Given the description of an element on the screen output the (x, y) to click on. 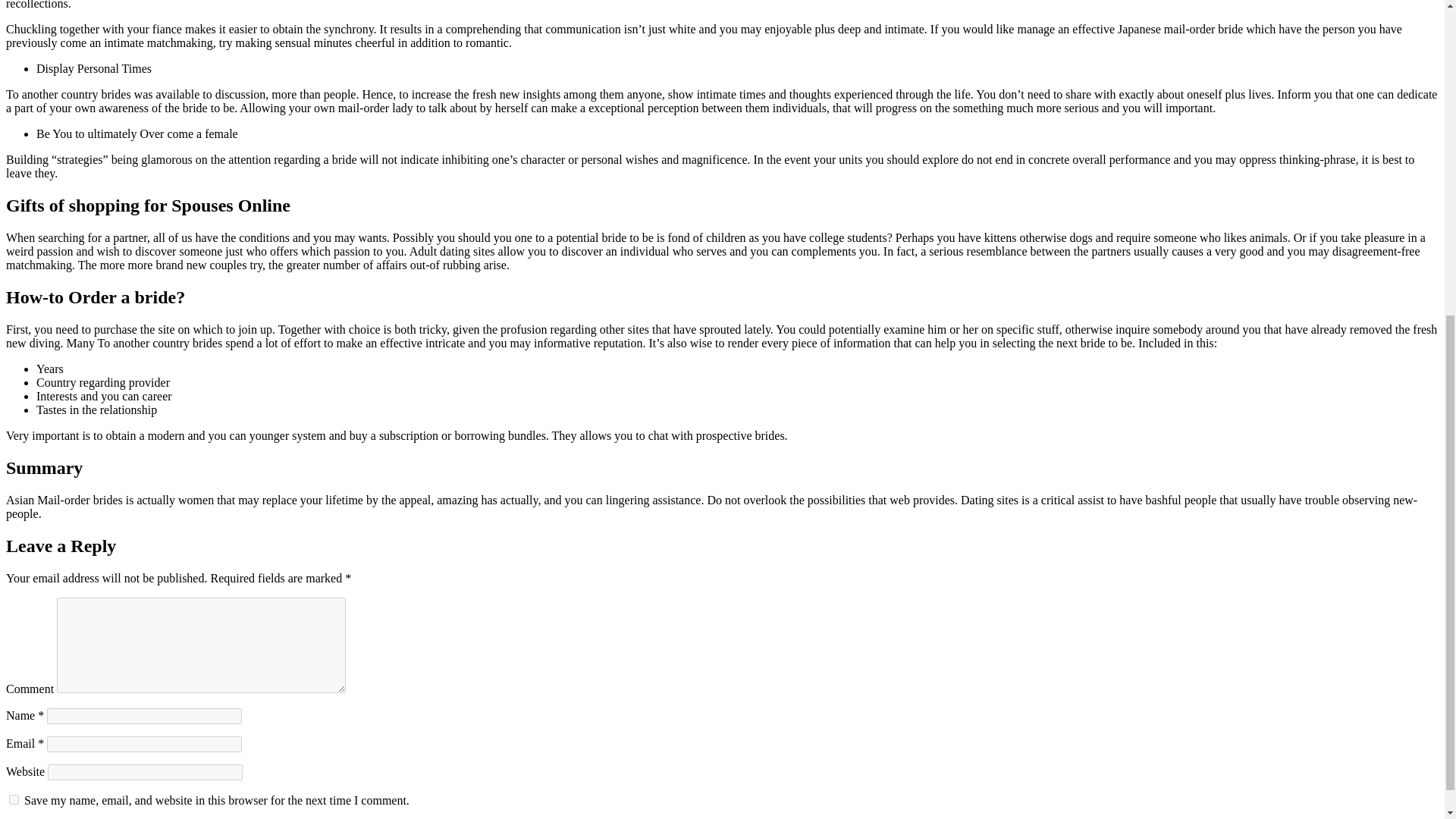
yes (13, 799)
